Given the description of an element on the screen output the (x, y) to click on. 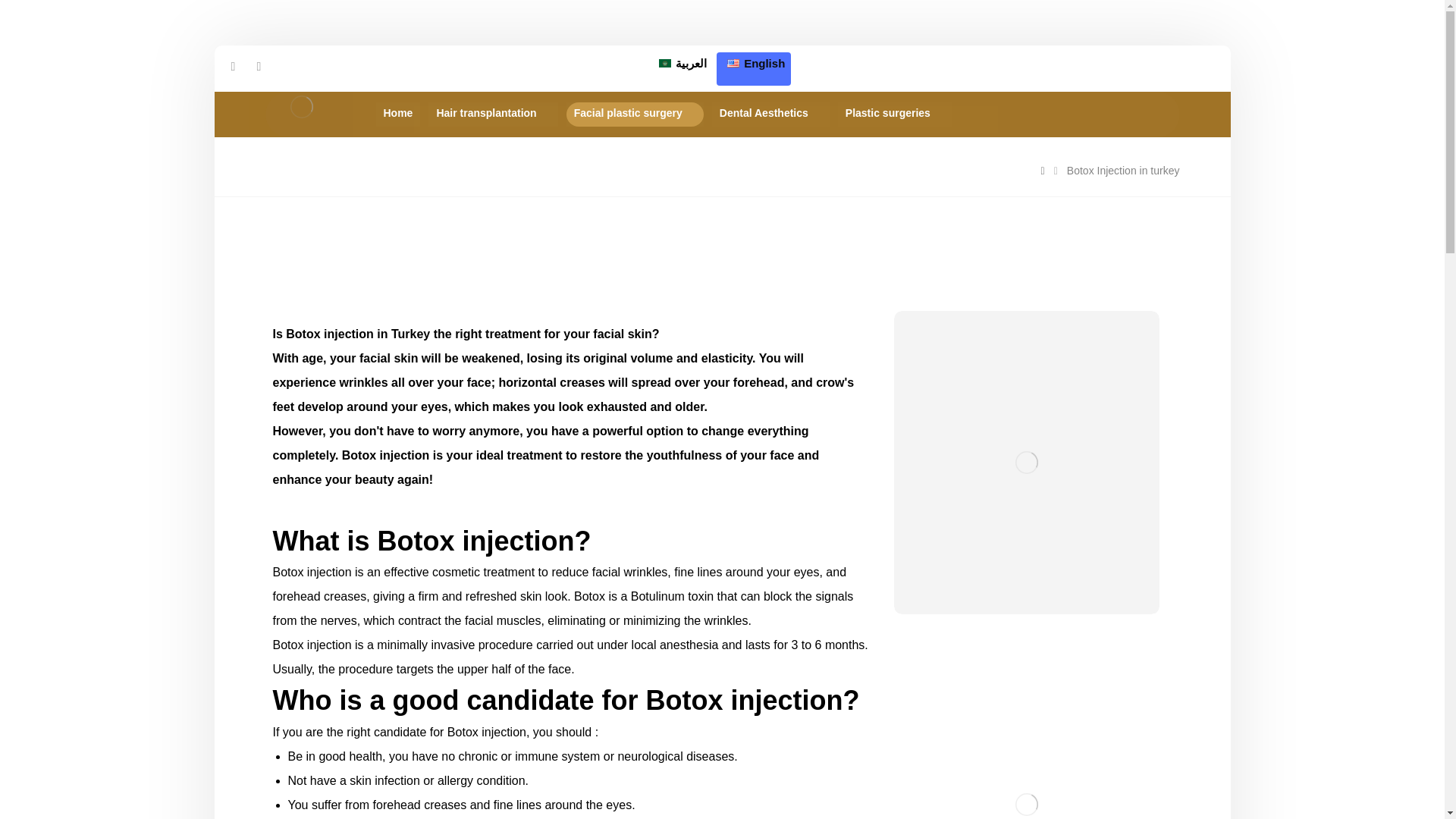
globalhealthbeauty (301, 106)
Facial plastic surgery (634, 114)
Dental Aesthetics (770, 114)
Home (397, 114)
Hair transplantation (492, 114)
Plastic surgeries (895, 114)
English (754, 68)
